Given the description of an element on the screen output the (x, y) to click on. 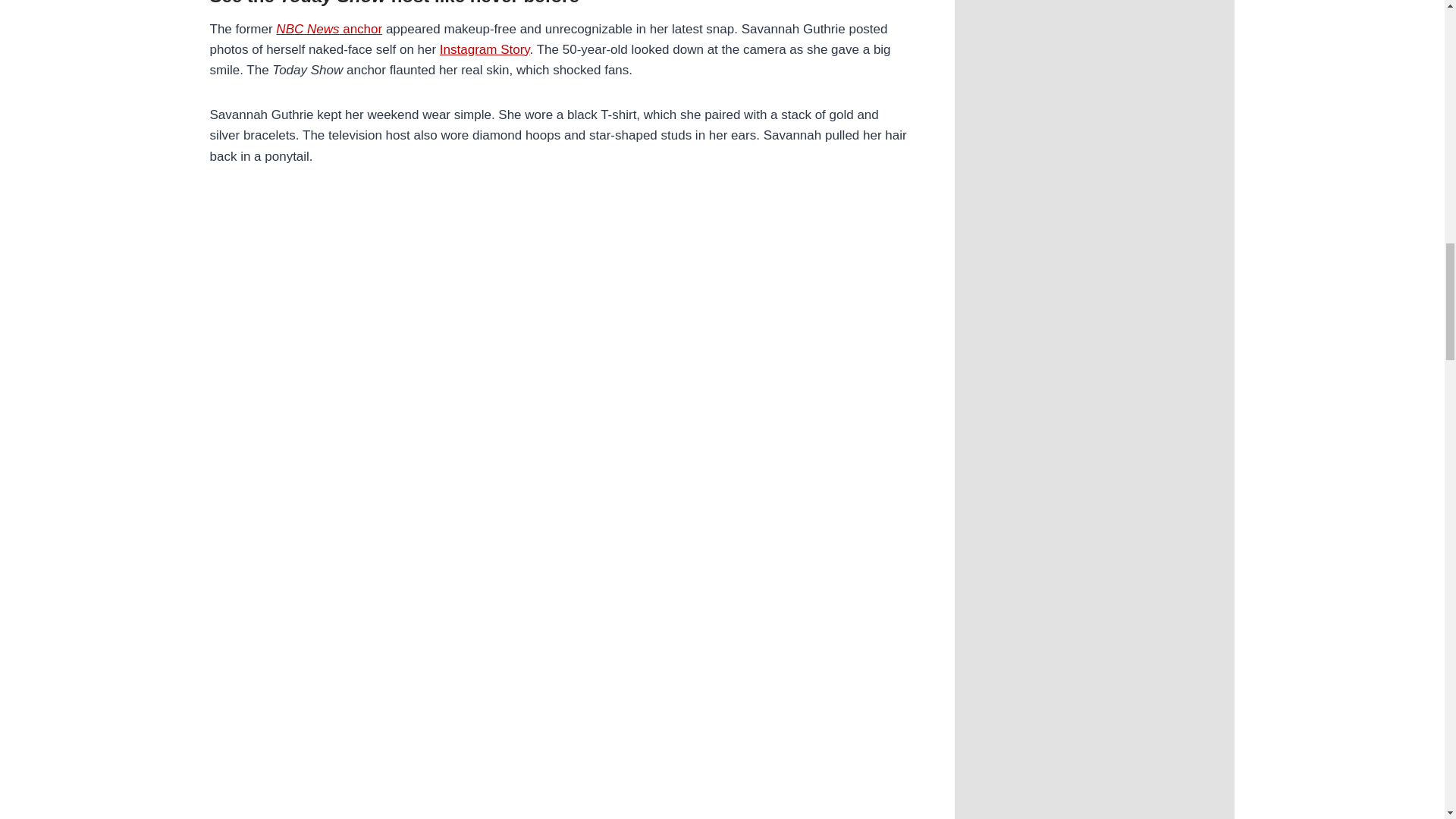
NBC News anchor (328, 29)
Instagram Story (484, 49)
